Given the description of an element on the screen output the (x, y) to click on. 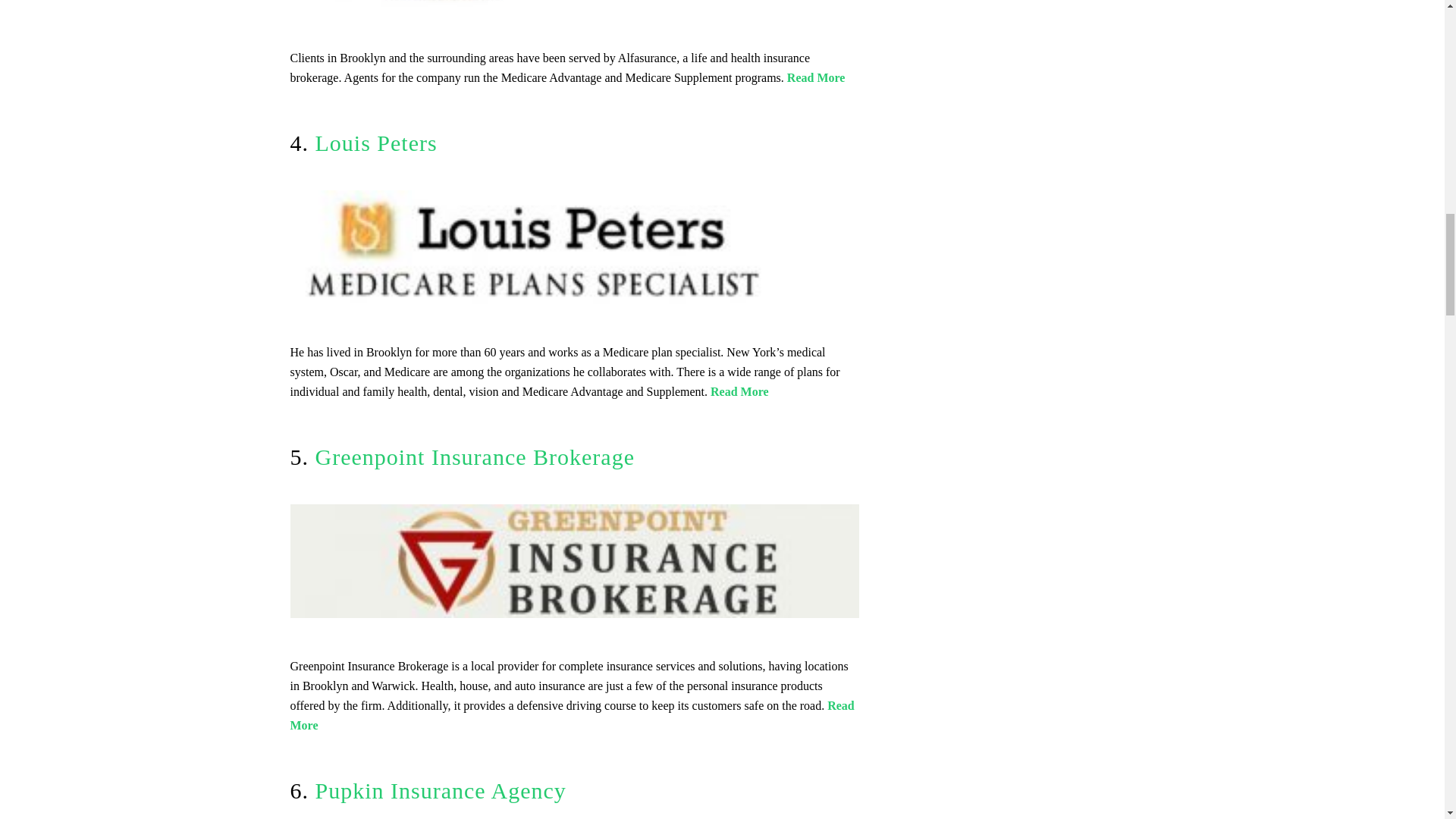
Read More (571, 715)
Read More (739, 391)
Pupkin Insurance Agency (437, 790)
Greenpoint Insurance Brokerage (474, 456)
Louis Peters (376, 142)
Read More (816, 77)
